Given the description of an element on the screen output the (x, y) to click on. 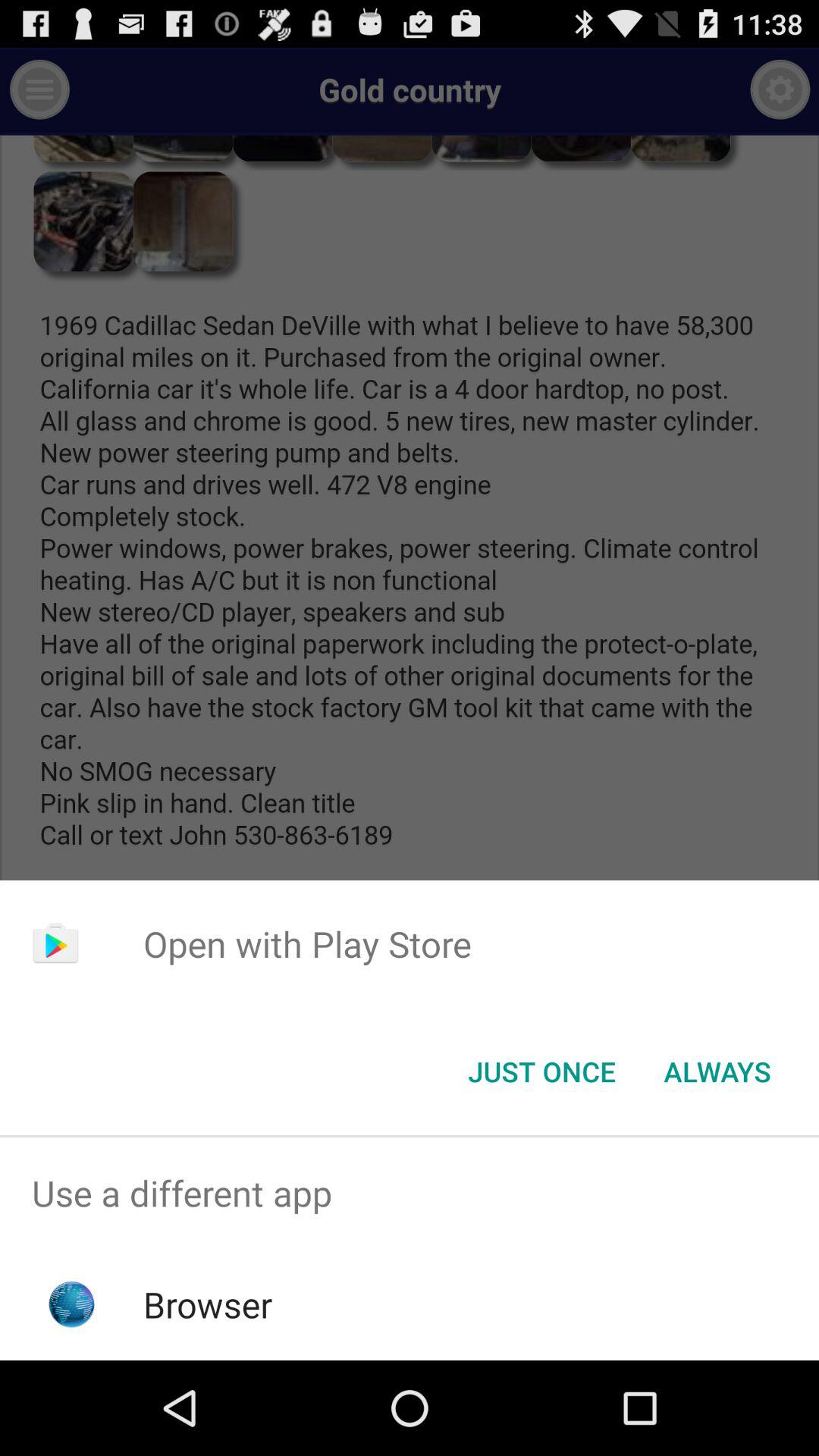
choose the icon next to the always item (541, 1071)
